Given the description of an element on the screen output the (x, y) to click on. 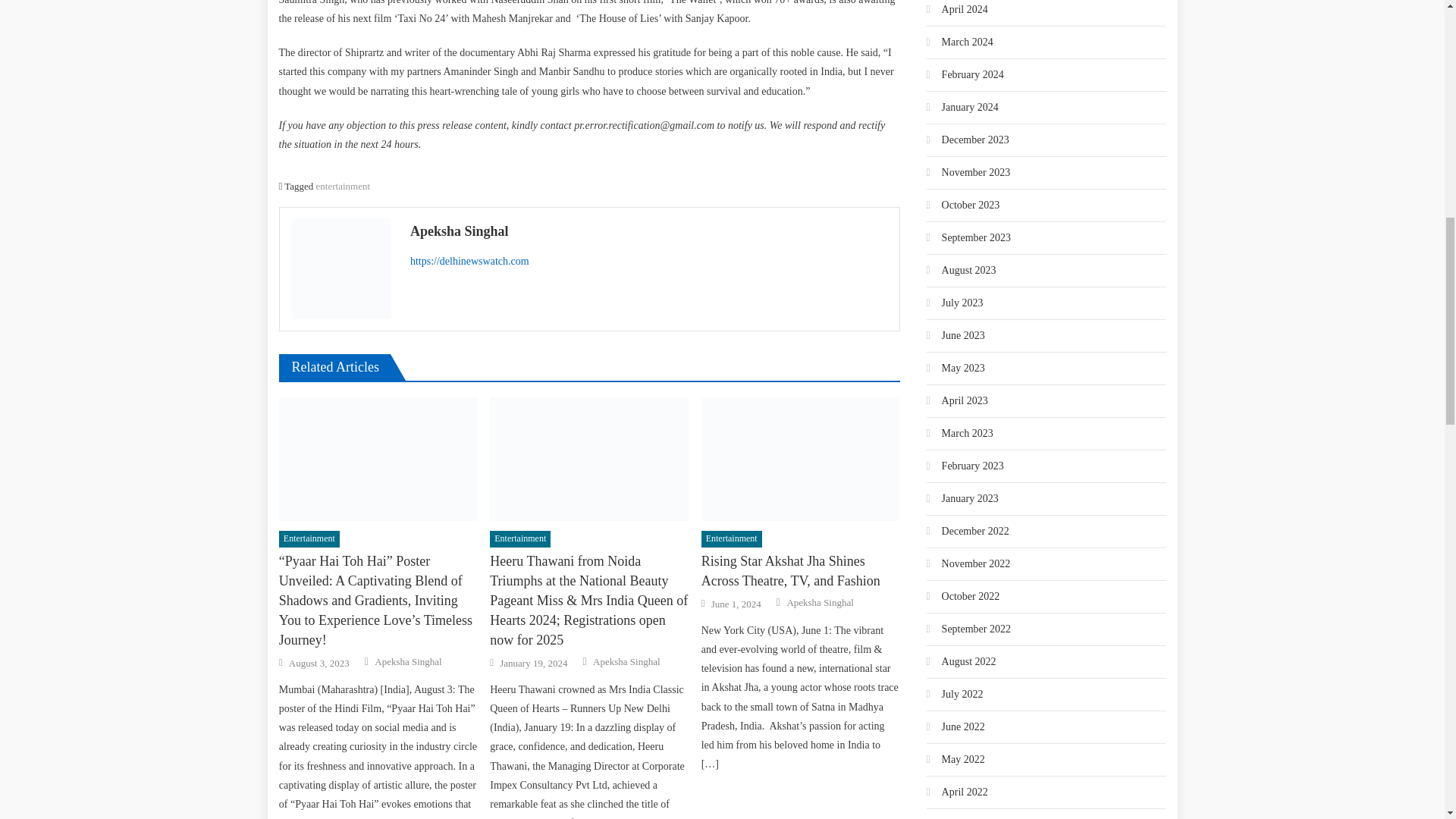
Entertainment (309, 538)
August 3, 2023 (318, 663)
Apeksha Singhal (407, 662)
entertainment (342, 185)
Apeksha Singhal (649, 231)
